Given the description of an element on the screen output the (x, y) to click on. 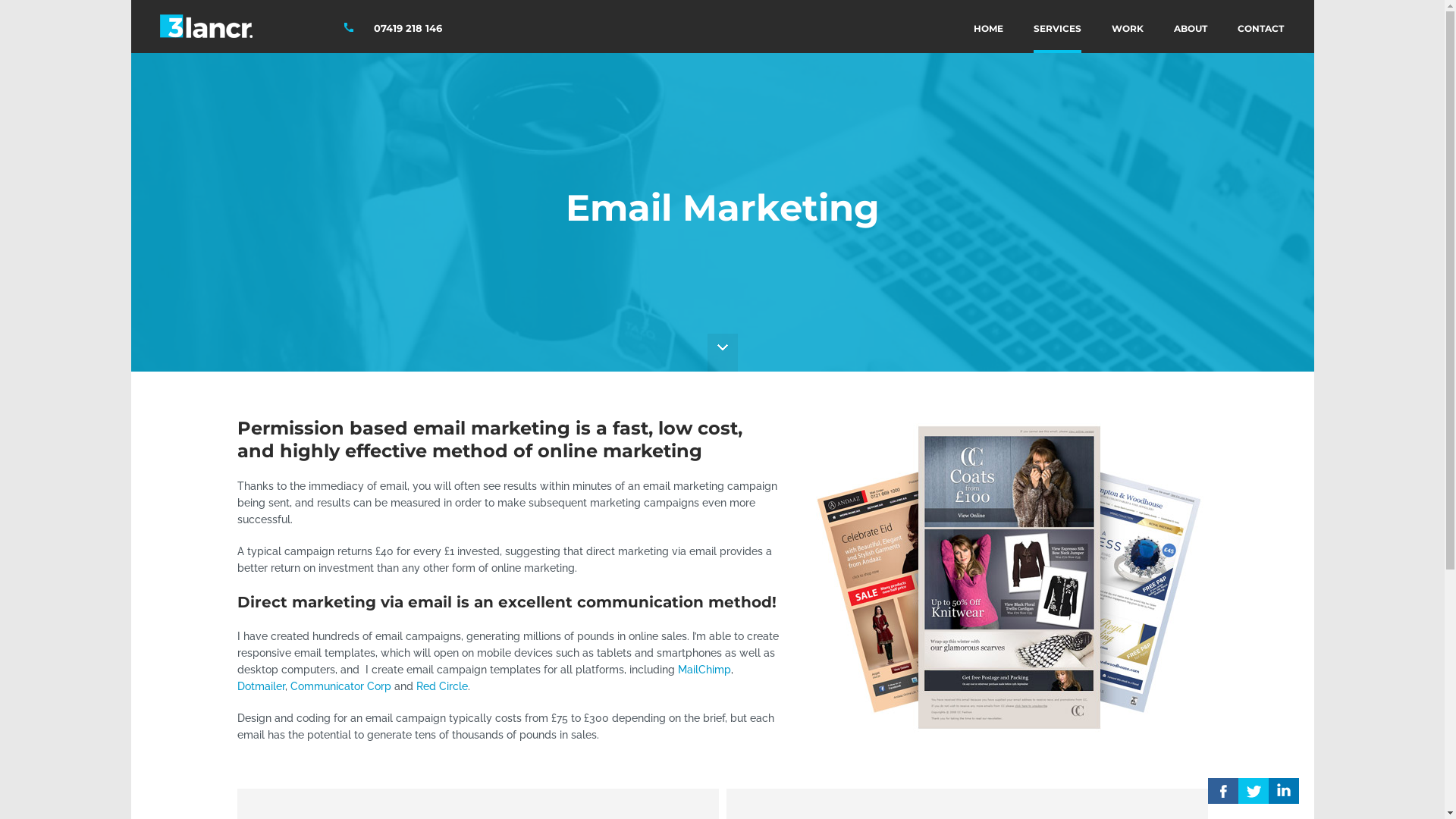
WORK Element type: text (1127, 26)
Dotmailer Element type: text (260, 686)
Communicator Corp Element type: text (339, 686)
MailChimp Element type: text (704, 669)
E Element type: text (1252, 790)
07419 218 146 Element type: text (407, 27)
HOME Element type: text (988, 26)
ABOUT Element type: text (1190, 26)
CONTACT Element type: text (1260, 26)
Red Circle Element type: text (441, 686)
SERVICES Element type: text (1056, 26)
